Given the description of an element on the screen output the (x, y) to click on. 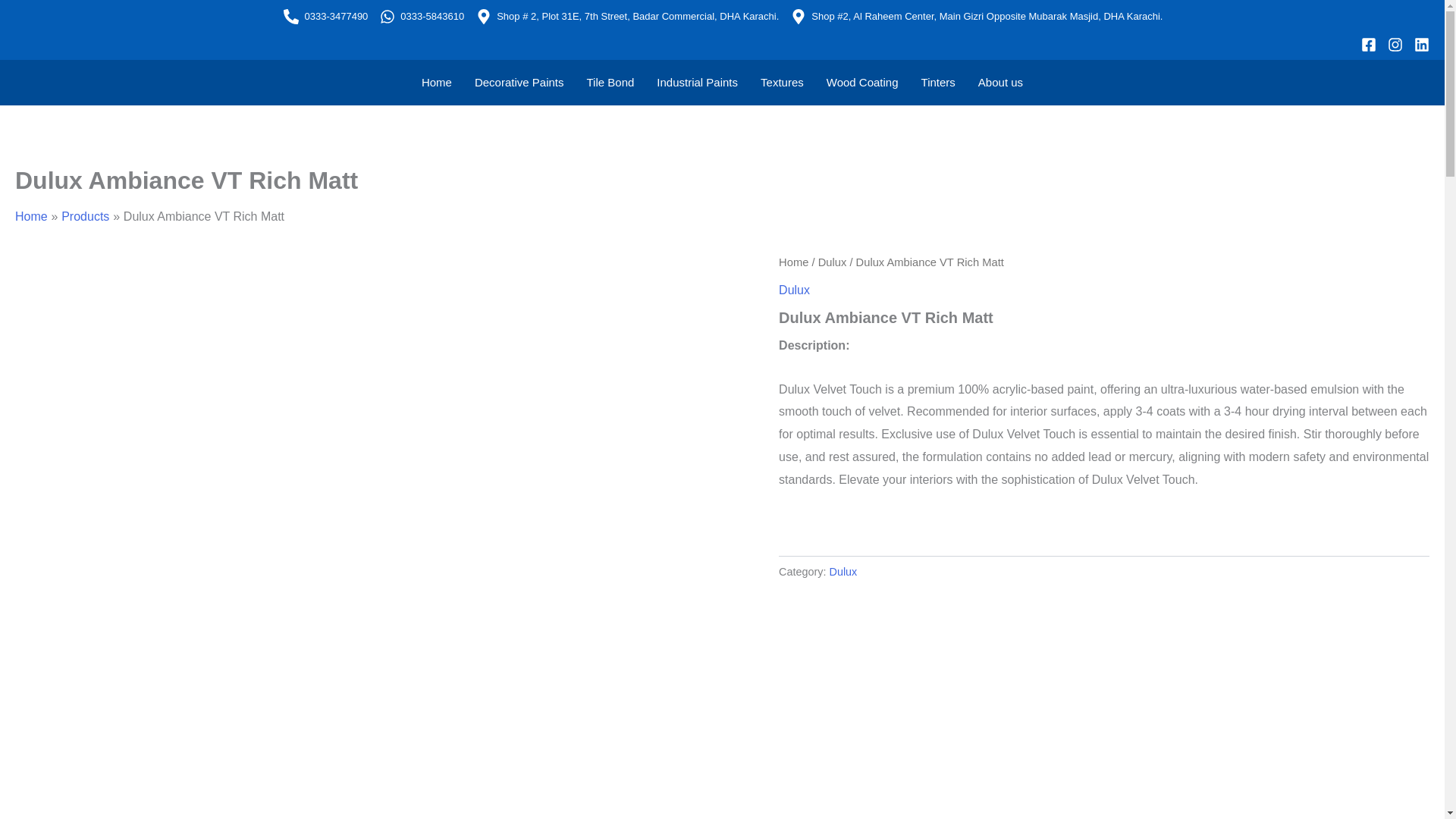
About us (999, 82)
Decorative Paints (519, 82)
Tile Bond (610, 82)
Home (436, 82)
Textures (782, 82)
Wood Coating (862, 82)
Tinters (938, 82)
Industrial Paints (697, 82)
